Given the description of an element on the screen output the (x, y) to click on. 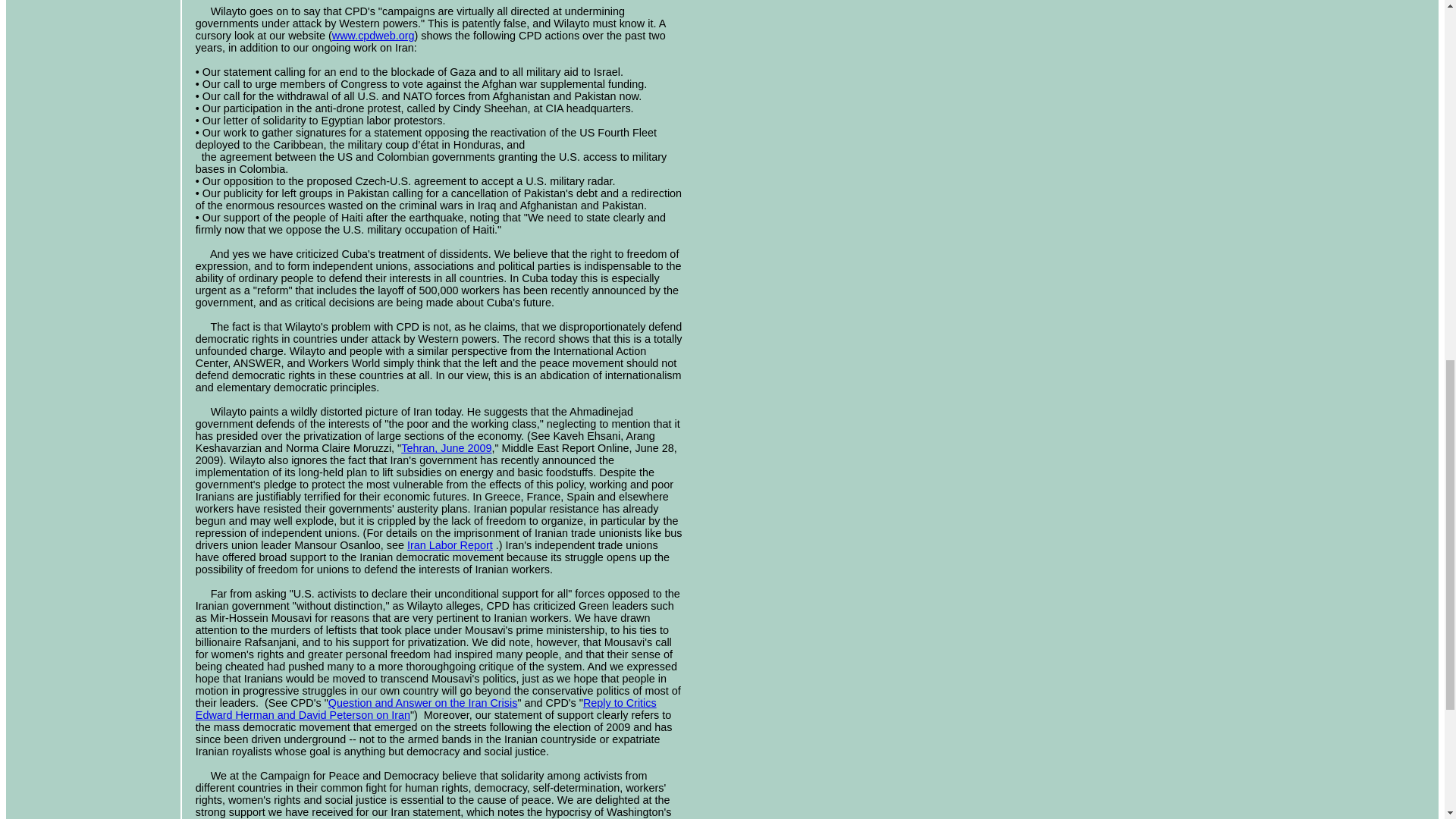
Reply to Critics Edward Herman and David Peterson on Iran (425, 708)
www.cpdweb.org (372, 35)
Iran Labor Report (450, 544)
Tehran, June 2009 (446, 448)
Question and Answer on the Iran Crisis (423, 702)
